Given the description of an element on the screen output the (x, y) to click on. 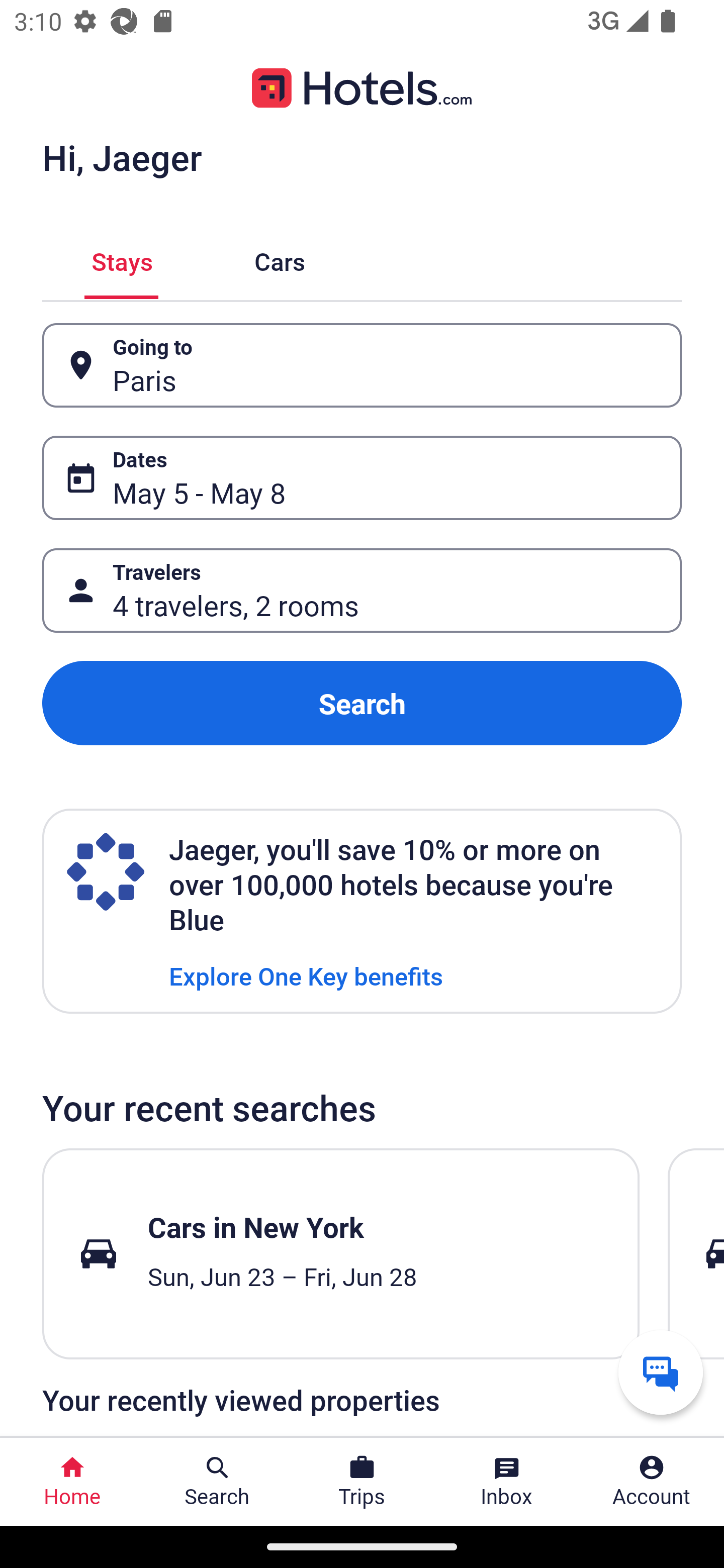
Hi, Jaeger (121, 156)
Cars (279, 259)
Going to Button Paris (361, 365)
Dates Button May 5 - May 8 (361, 477)
Travelers Button 4 travelers, 2 rooms (361, 590)
Search (361, 702)
Get help from a virtual agent (660, 1371)
Search Search Button (216, 1481)
Trips Trips Button (361, 1481)
Inbox Inbox Button (506, 1481)
Account Profile. Button (651, 1481)
